Given the description of an element on the screen output the (x, y) to click on. 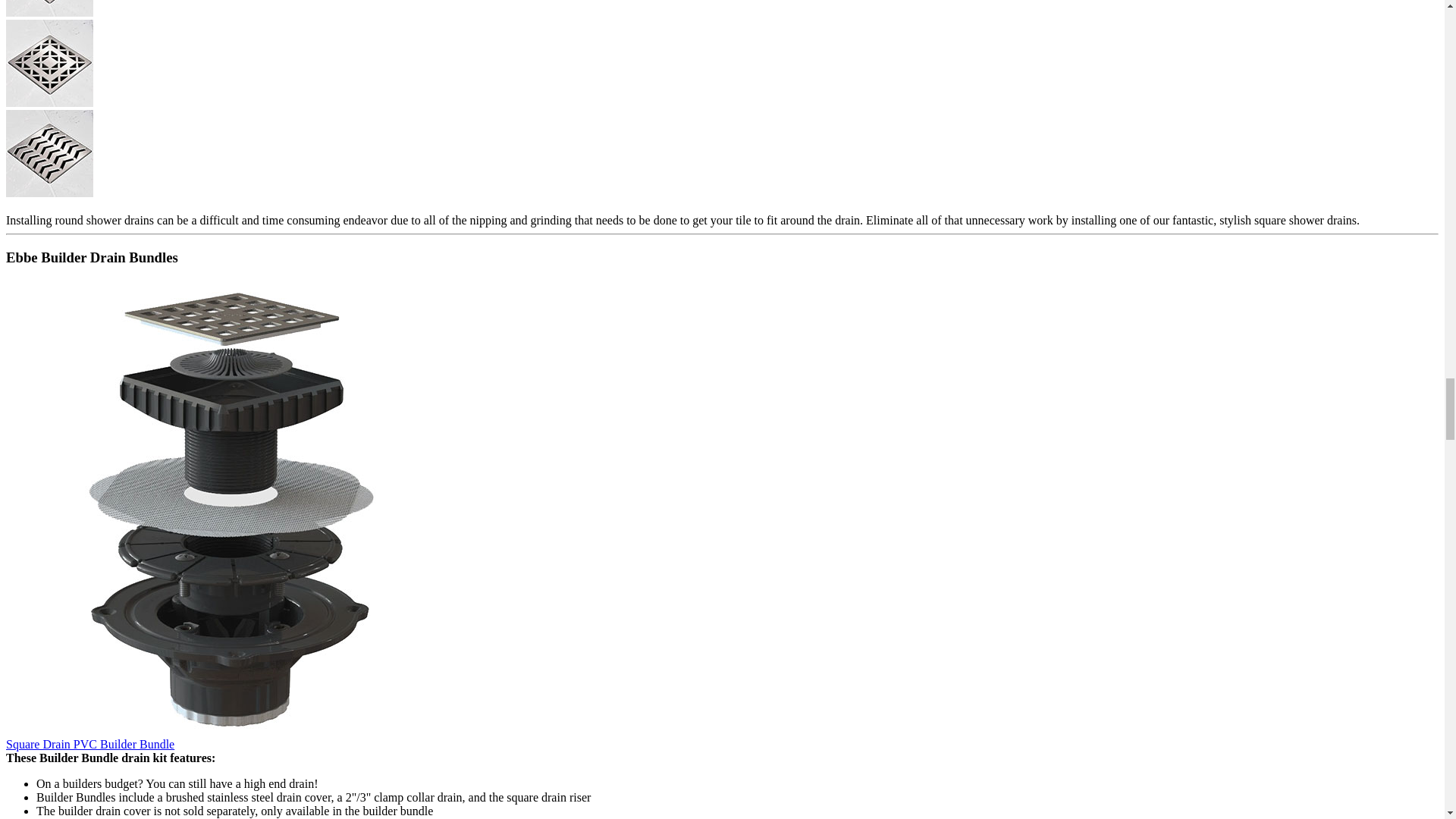
click here to view the Frames drain cover (49, 11)
Ebbe Square Shower Drain PVC Builder Bundle (233, 737)
click here to view the Lattice drain cover (49, 102)
click here to view the Trend drain cover (49, 192)
